Given the description of an element on the screen output the (x, y) to click on. 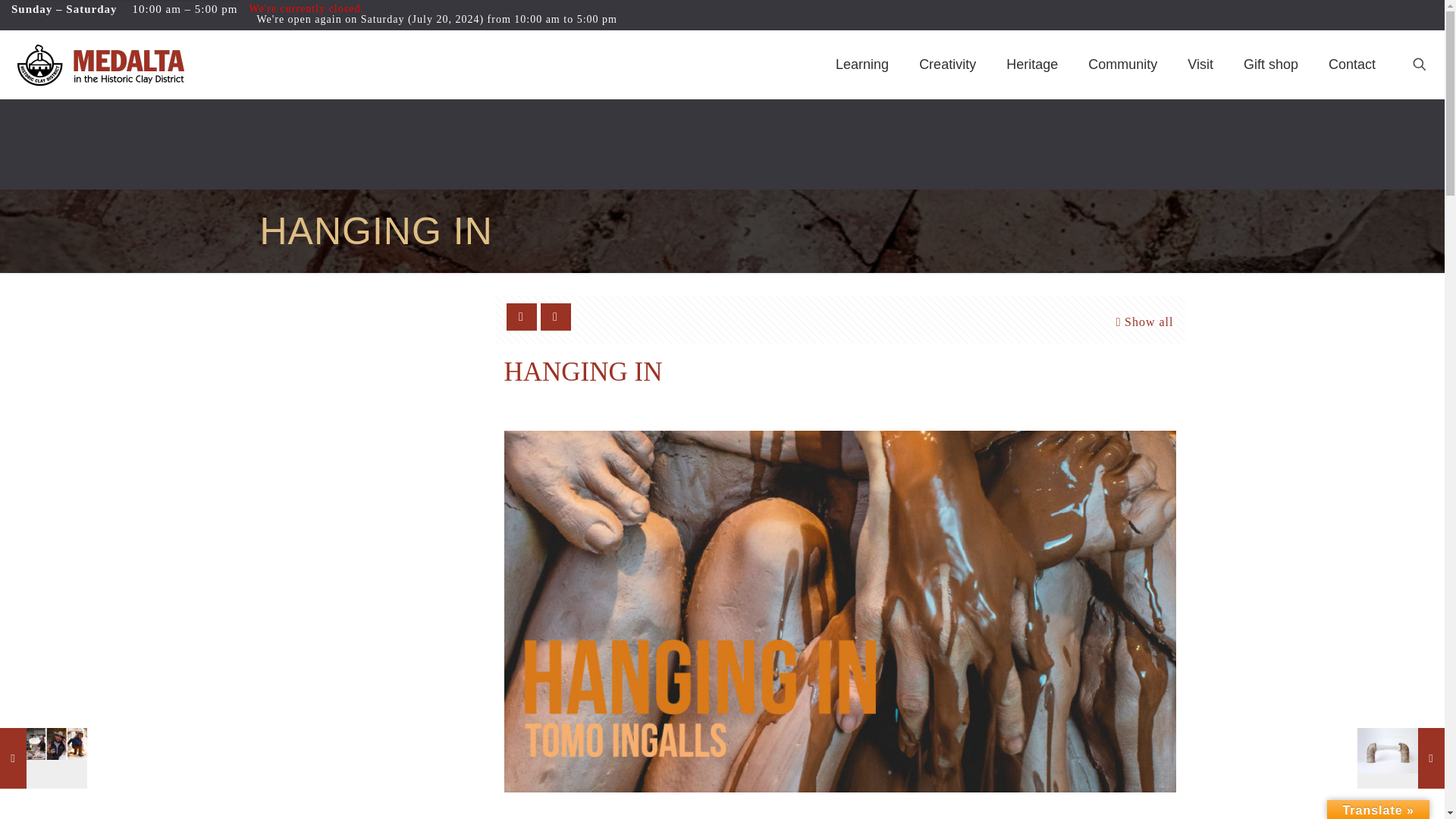
Gift shop (1270, 64)
Community (1122, 64)
Creativity (947, 64)
Contact (1351, 64)
Heritage (1032, 64)
Medalta (100, 64)
Learning (862, 64)
